Given the description of an element on the screen output the (x, y) to click on. 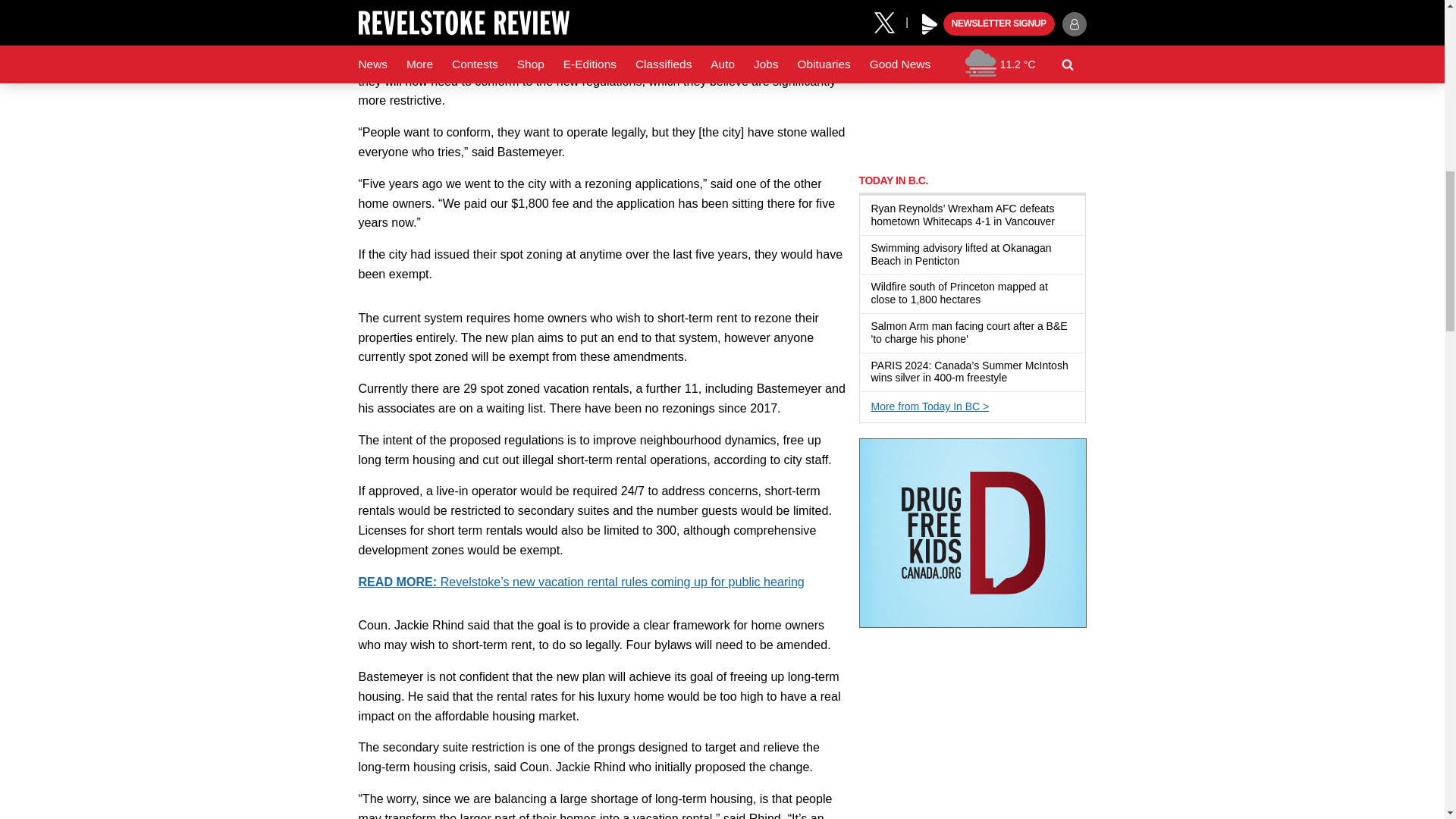
3rd party ad content (972, 533)
3rd party ad content (972, 79)
